Given the description of an element on the screen output the (x, y) to click on. 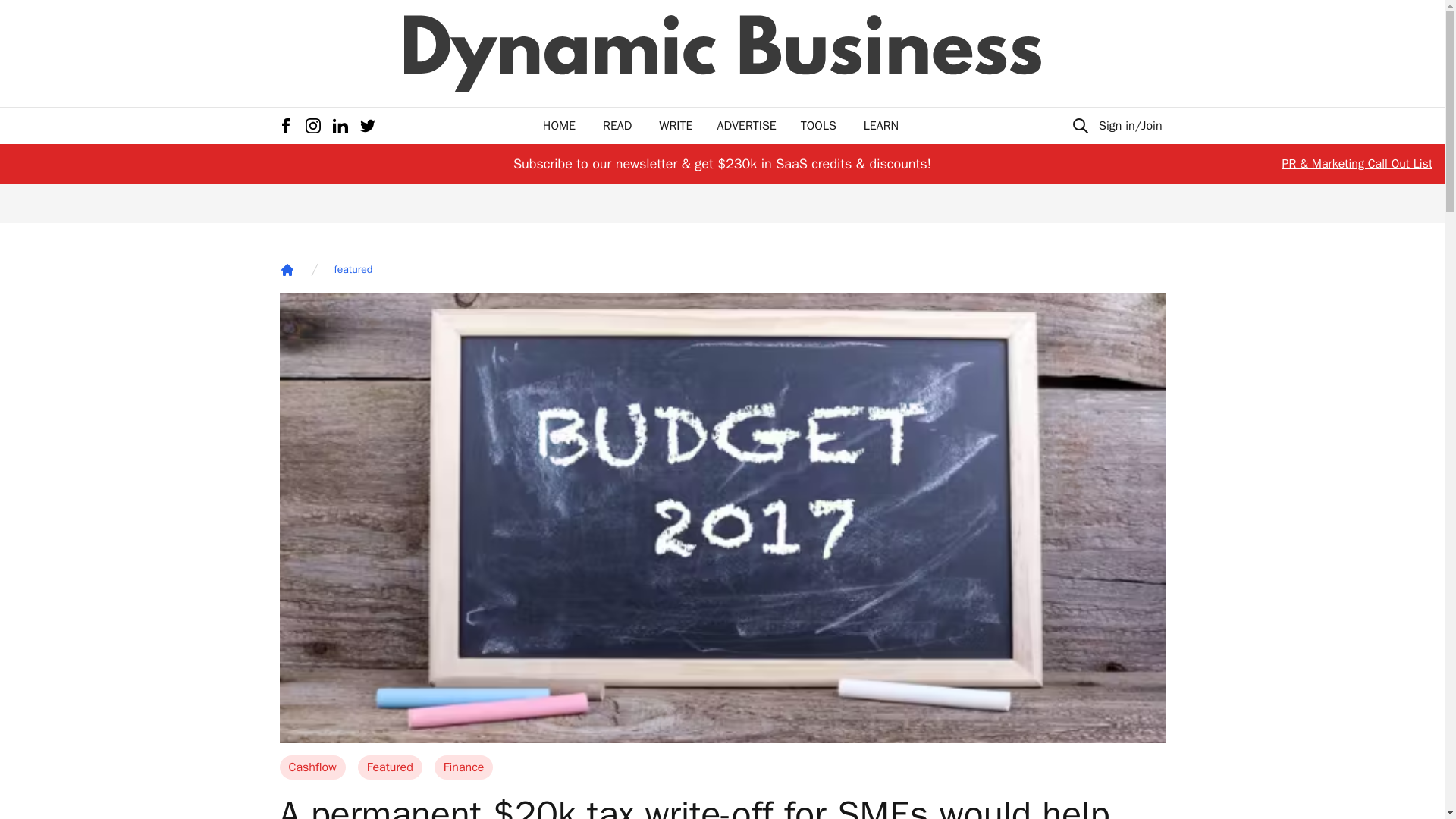
Home (286, 269)
Finance (463, 767)
TOOLS (817, 126)
Cashflow (312, 767)
ADVERTISE (746, 126)
featured (352, 269)
WRITE (676, 126)
READ (616, 126)
LEARN (880, 126)
Featured (390, 767)
